Given the description of an element on the screen output the (x, y) to click on. 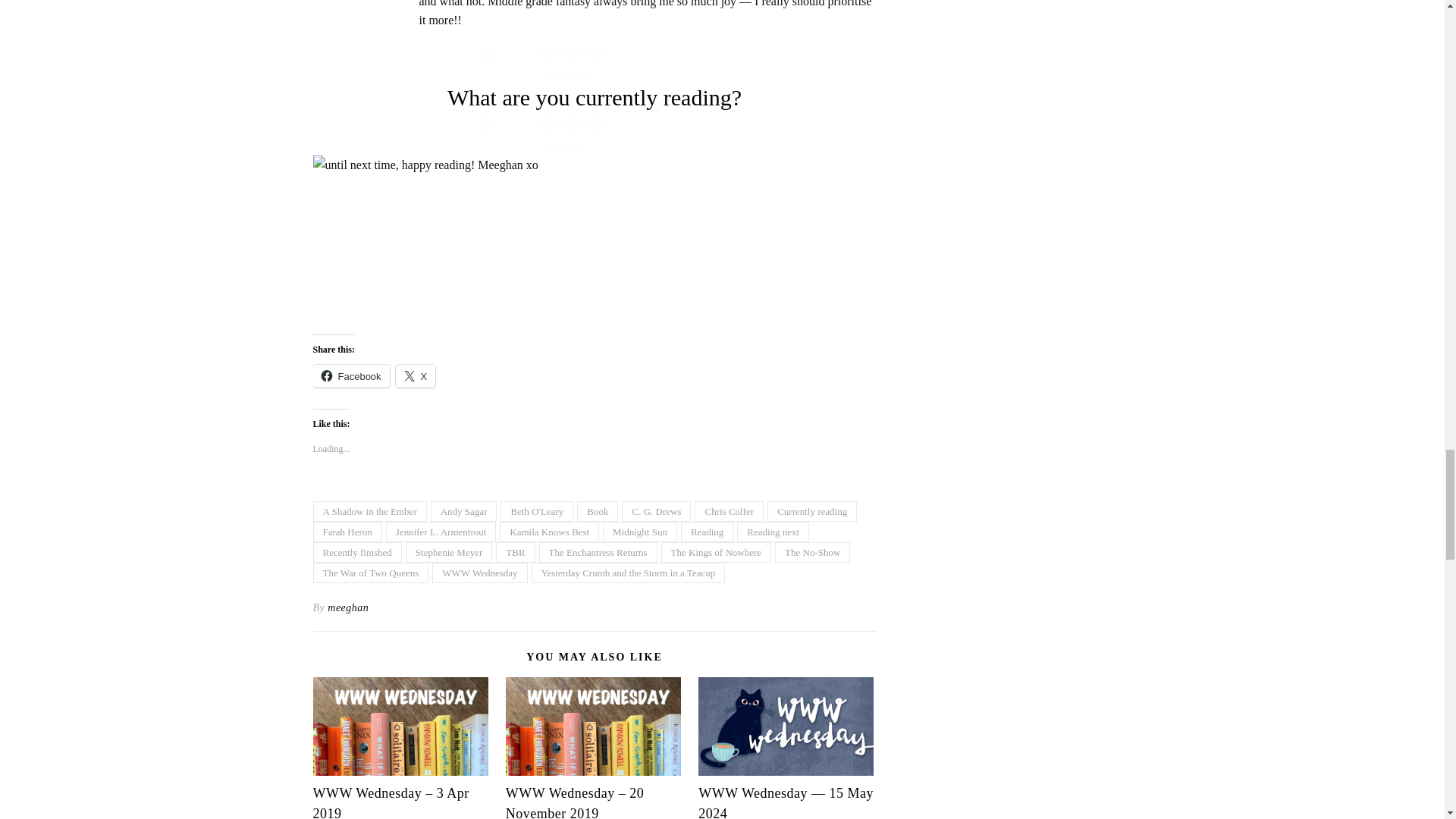
Click to share on X (415, 375)
Posts by meeghan (347, 608)
Click to share on Facebook (350, 375)
